Given the description of an element on the screen output the (x, y) to click on. 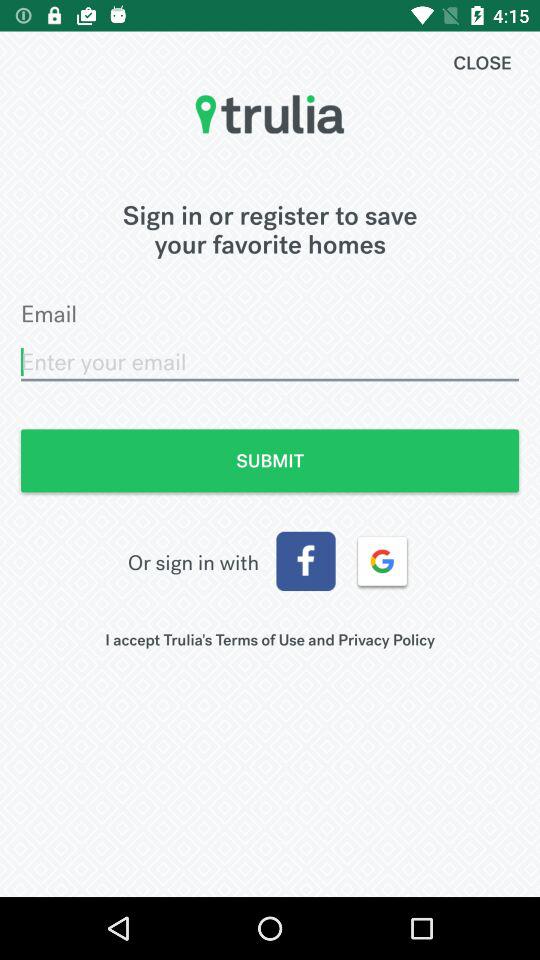
sign in with facebook (305, 561)
